Given the description of an element on the screen output the (x, y) to click on. 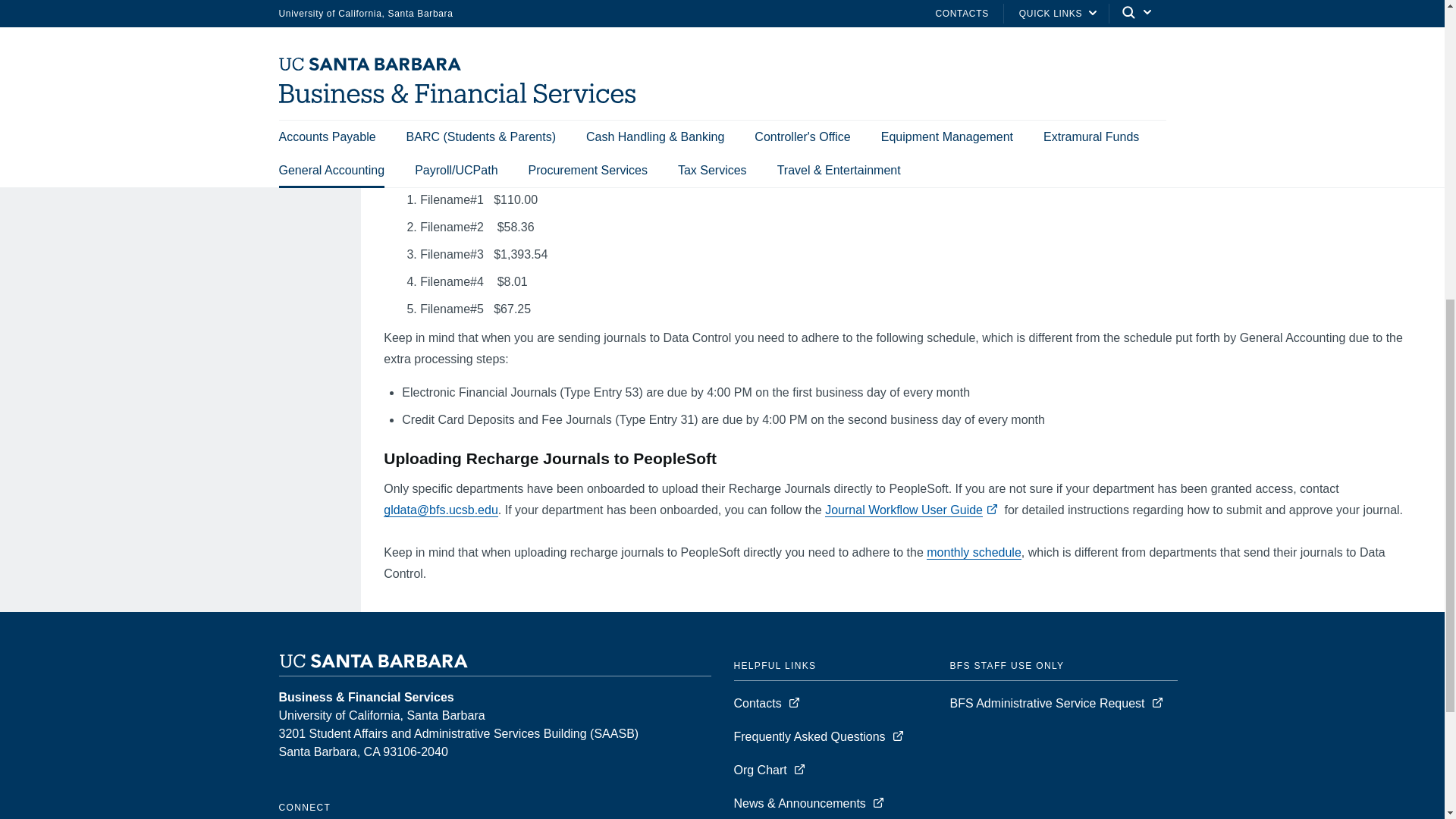
Journal Workflow User Guide (903, 509)
FORMS (77, 29)
CONTACTS (87, 93)
DATA CONTROL (101, 2)
FAQS (71, 61)
